Given the description of an element on the screen output the (x, y) to click on. 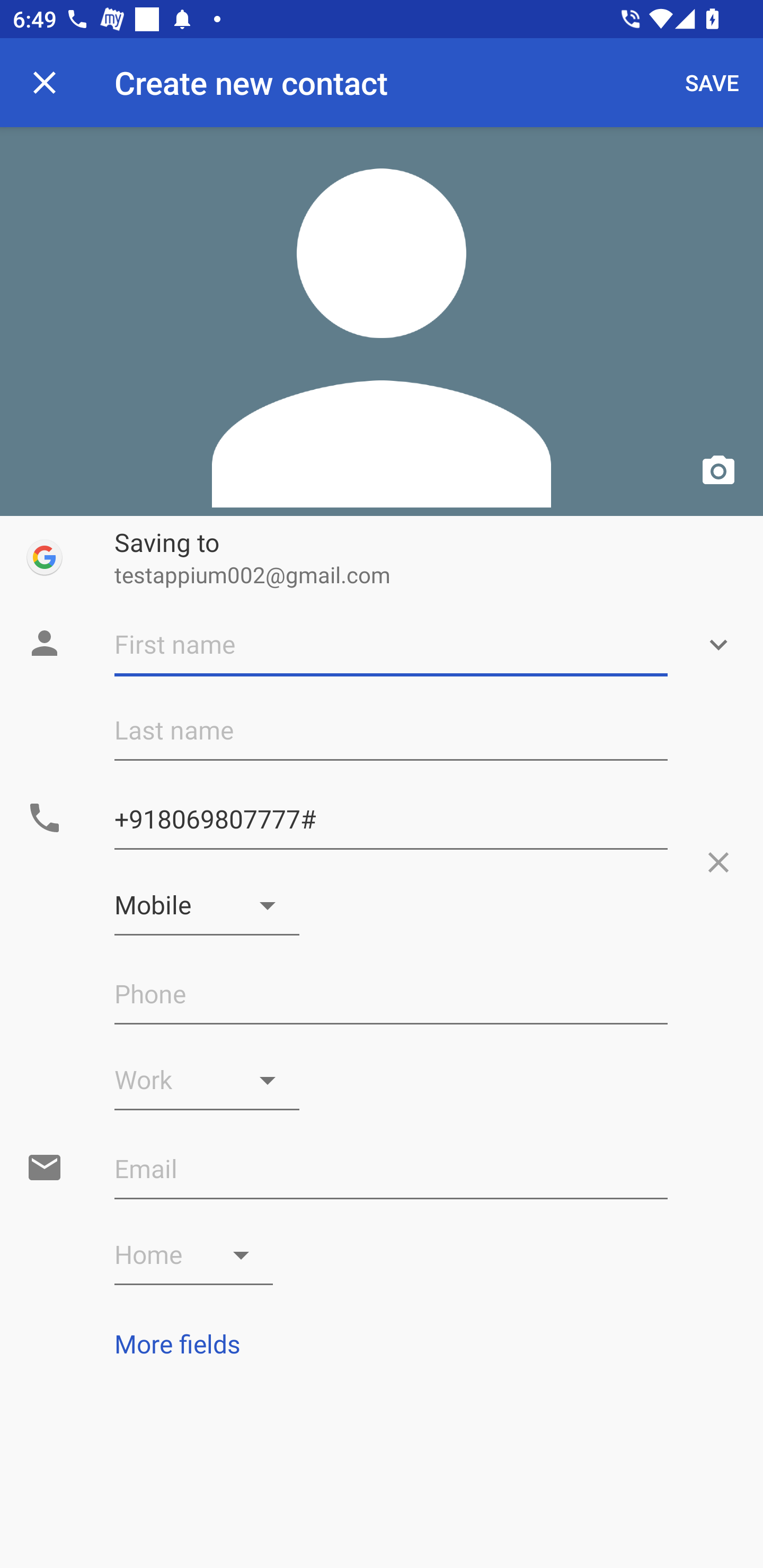
Cancel (44, 82)
SAVE (712, 82)
Add contact photo (381, 321)
First name (390, 645)
Show more name fields (718, 645)
Last name (390, 730)
+918069807777# (390, 819)
Delete Mobile Phone delete (718, 862)
Phone Mobile (206, 905)
Phone (390, 993)
Phone Work (206, 1079)
Email (390, 1168)
Email Home (193, 1255)
More fields (381, 1343)
